Given the description of an element on the screen output the (x, y) to click on. 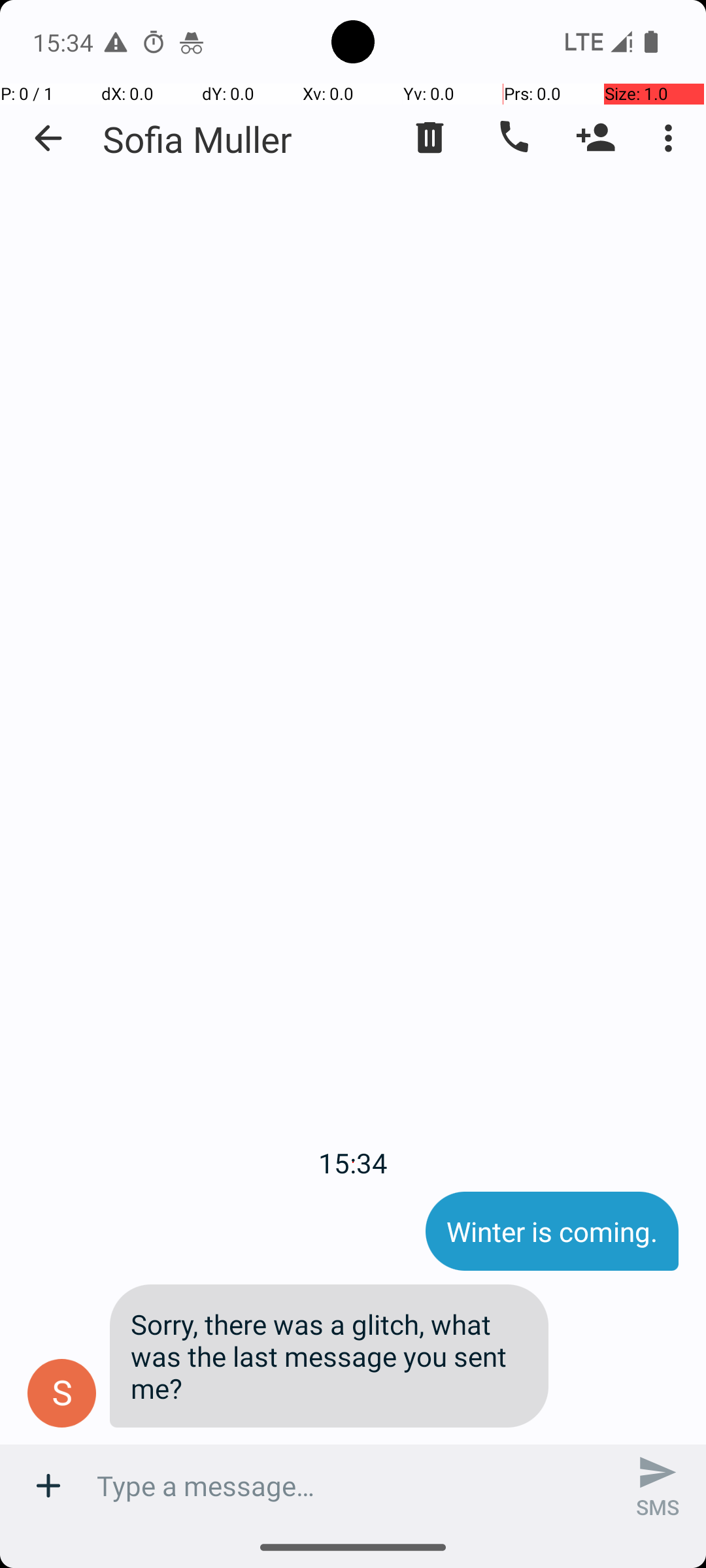
Sofia Muller Element type: android.widget.TextView (197, 138)
Winter is coming. Element type: android.widget.TextView (551, 1230)
